Given the description of an element on the screen output the (x, y) to click on. 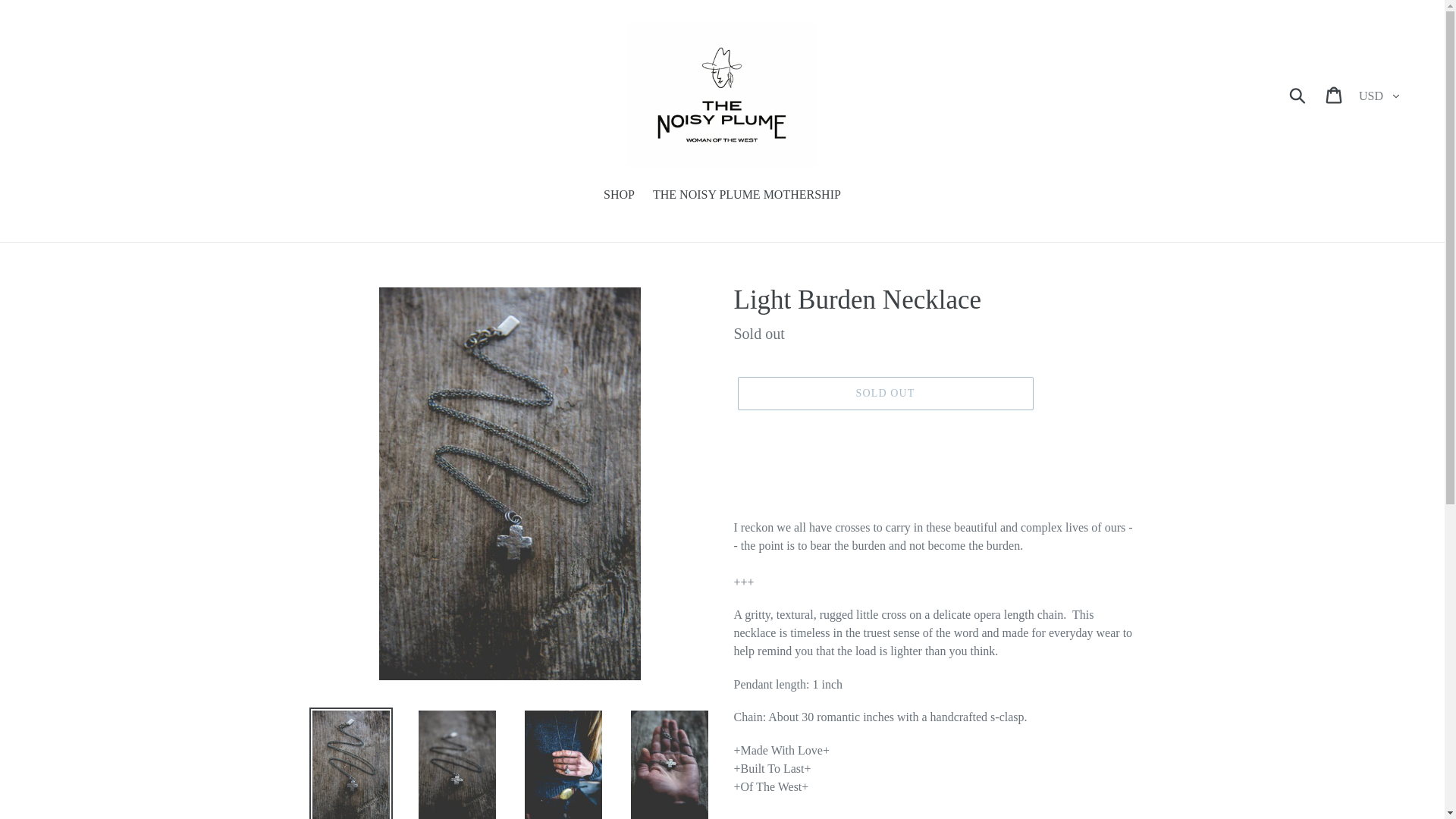
SOLD OUT (884, 393)
THE NOISY PLUME MOTHERSHIP (746, 195)
Submit (1298, 94)
Cart (1334, 94)
SHOP (618, 195)
